Given the description of an element on the screen output the (x, y) to click on. 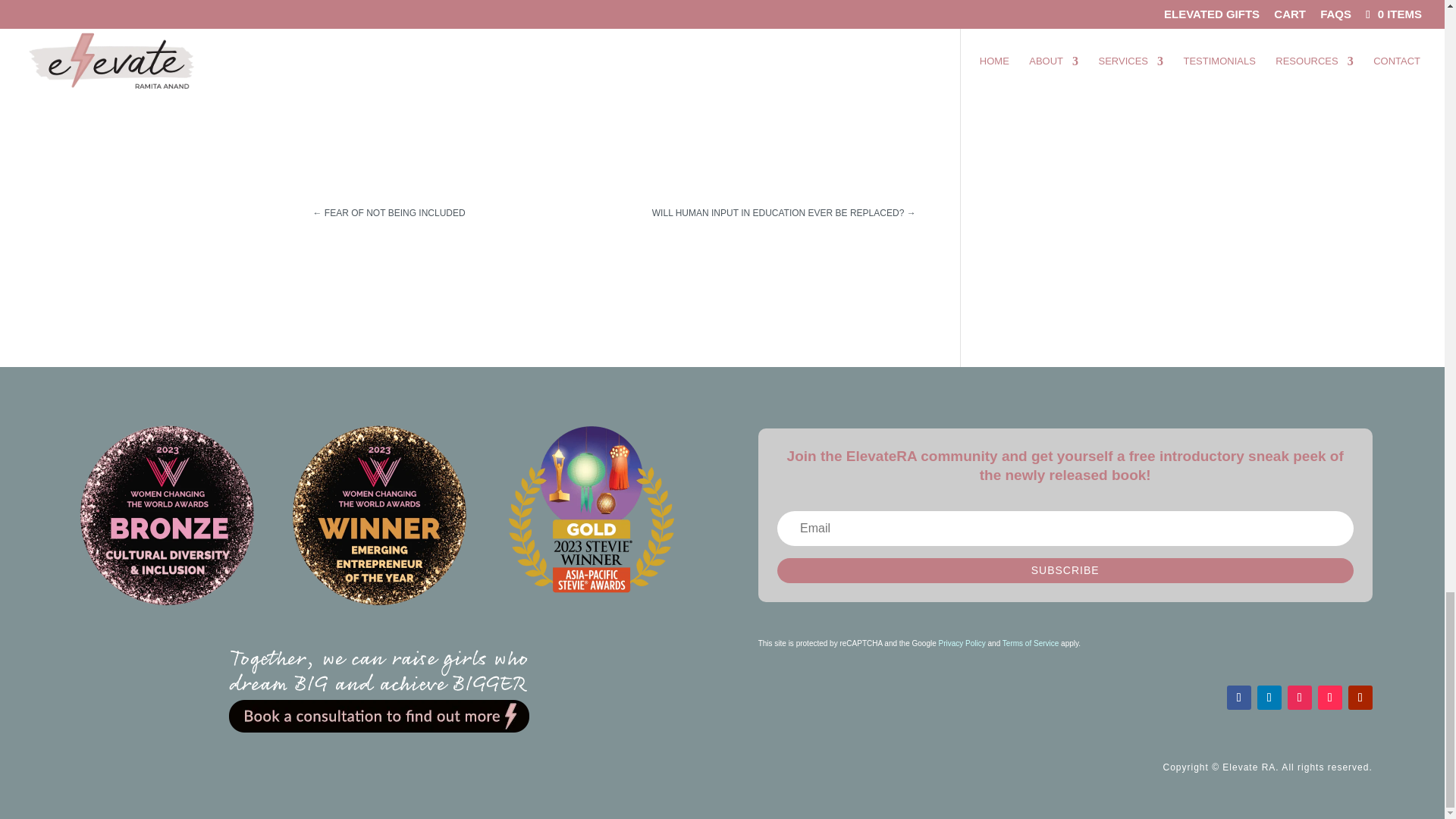
Follow on Facebook (1238, 697)
Follow on Instagram (1299, 697)
Follow on Youtube (1360, 697)
Book a consult today (379, 691)
Follow on LinkedIn (1269, 697)
Follow on TikTok (1329, 697)
